Given the description of an element on the screen output the (x, y) to click on. 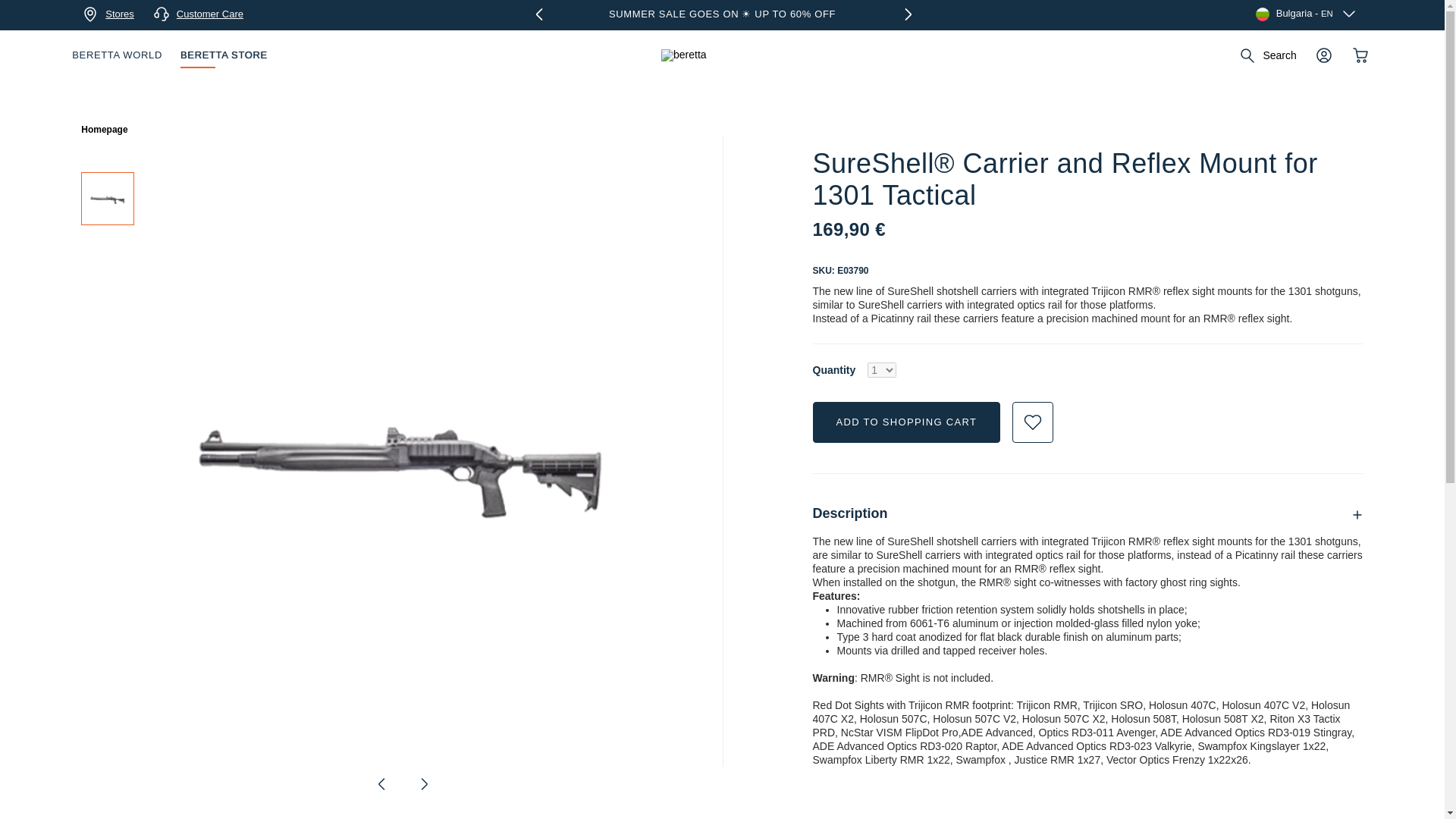
Stores (107, 13)
Customer Care (197, 13)
